Given the description of an element on the screen output the (x, y) to click on. 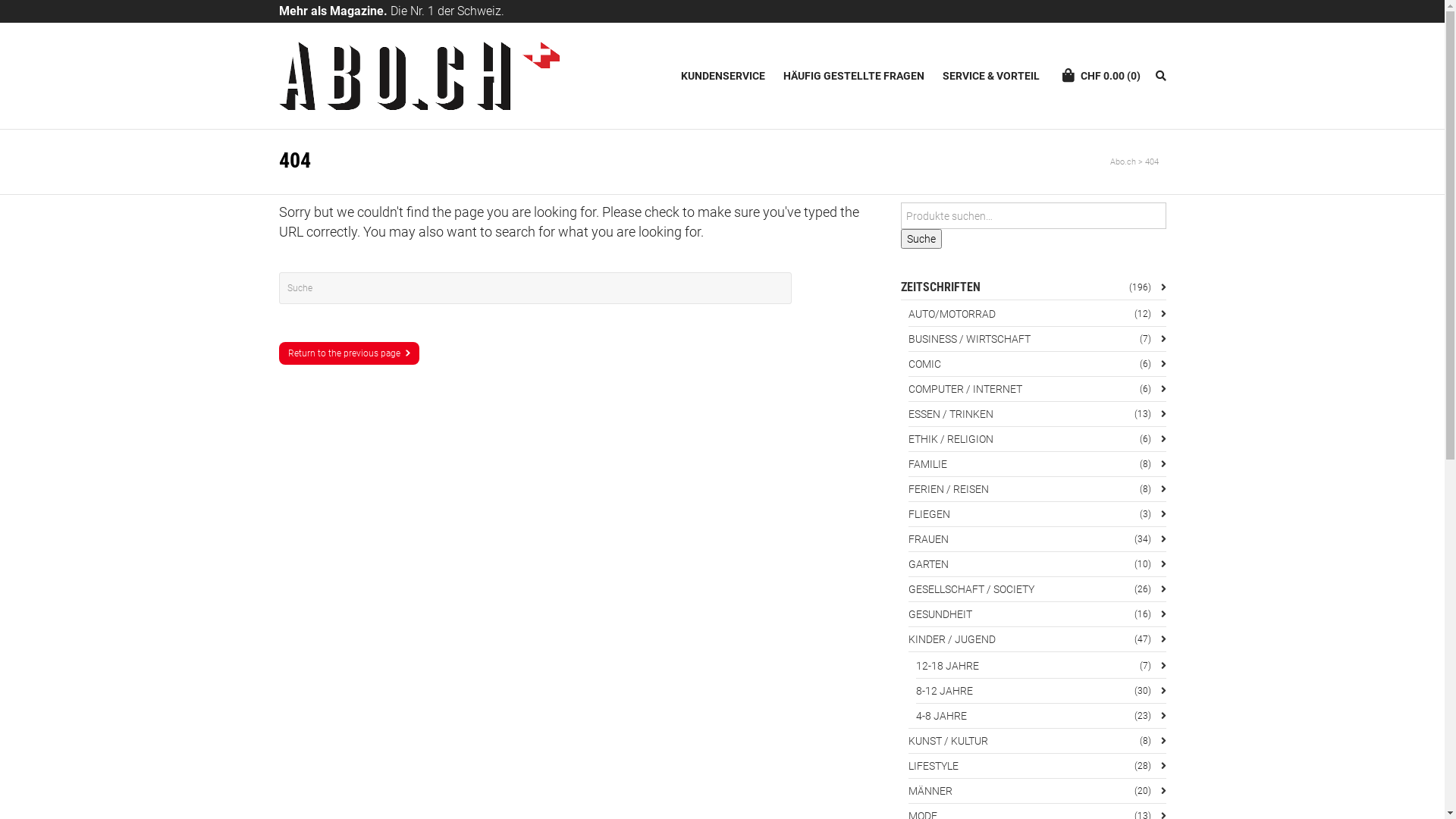
ETHIK / RELIGION Element type: text (1037, 438)
GESELLSCHAFT / SOCIETY Element type: text (1037, 589)
SERVICE & VORTEIL Element type: text (990, 75)
LIFESTYLE Element type: text (1037, 765)
AUTO/MOTORRAD Element type: text (1037, 313)
ZEITSCHRIFTEN Element type: text (1033, 287)
Suche Element type: text (920, 238)
FERIEN / REISEN Element type: text (1037, 488)
FAMILIE Element type: text (1037, 463)
4-8 JAHRE Element type: text (1041, 715)
FLIEGEN Element type: text (1037, 514)
404 Element type: text (1151, 161)
COMPUTER / INTERNET Element type: text (1037, 388)
KINDER / JUGEND Element type: text (1037, 639)
Return to the previous page Element type: text (349, 353)
12-18 JAHRE Element type: text (1041, 665)
BUSINESS / WIRTSCHAFT Element type: text (1037, 338)
Abo.ch Element type: text (1122, 161)
CHF 0.00 (0) Element type: text (1104, 75)
8-12 JAHRE Element type: text (1041, 690)
COMIC Element type: text (1037, 363)
GESUNDHEIT Element type: text (1037, 614)
KUNDENSERVICE Element type: text (722, 75)
KUNST / KULTUR Element type: text (1037, 740)
ESSEN / TRINKEN Element type: text (1037, 413)
GARTEN Element type: text (1037, 564)
FRAUEN Element type: text (1037, 539)
